Given the description of an element on the screen output the (x, y) to click on. 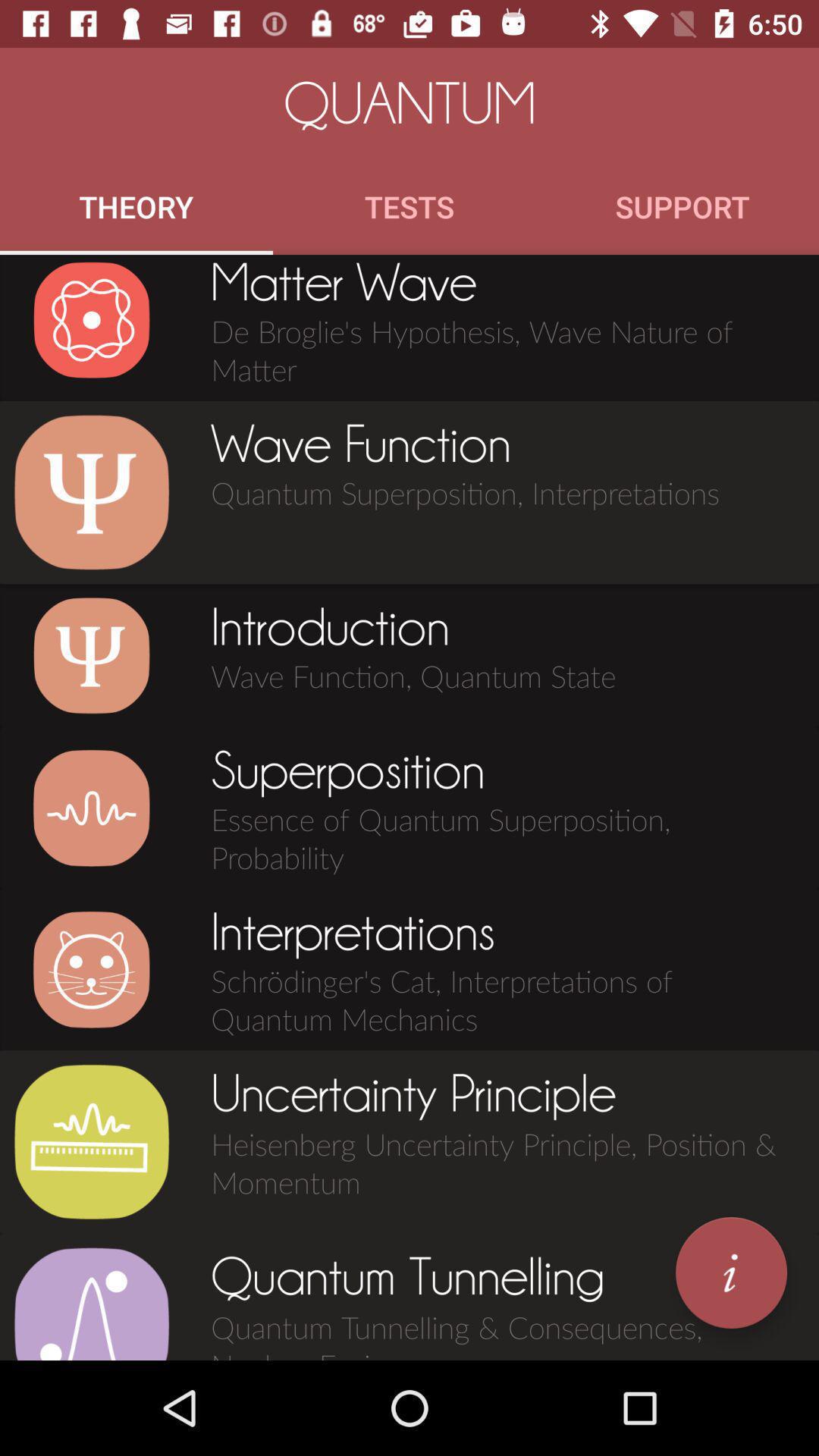
launch item next to matter wave (91, 319)
